Given the description of an element on the screen output the (x, y) to click on. 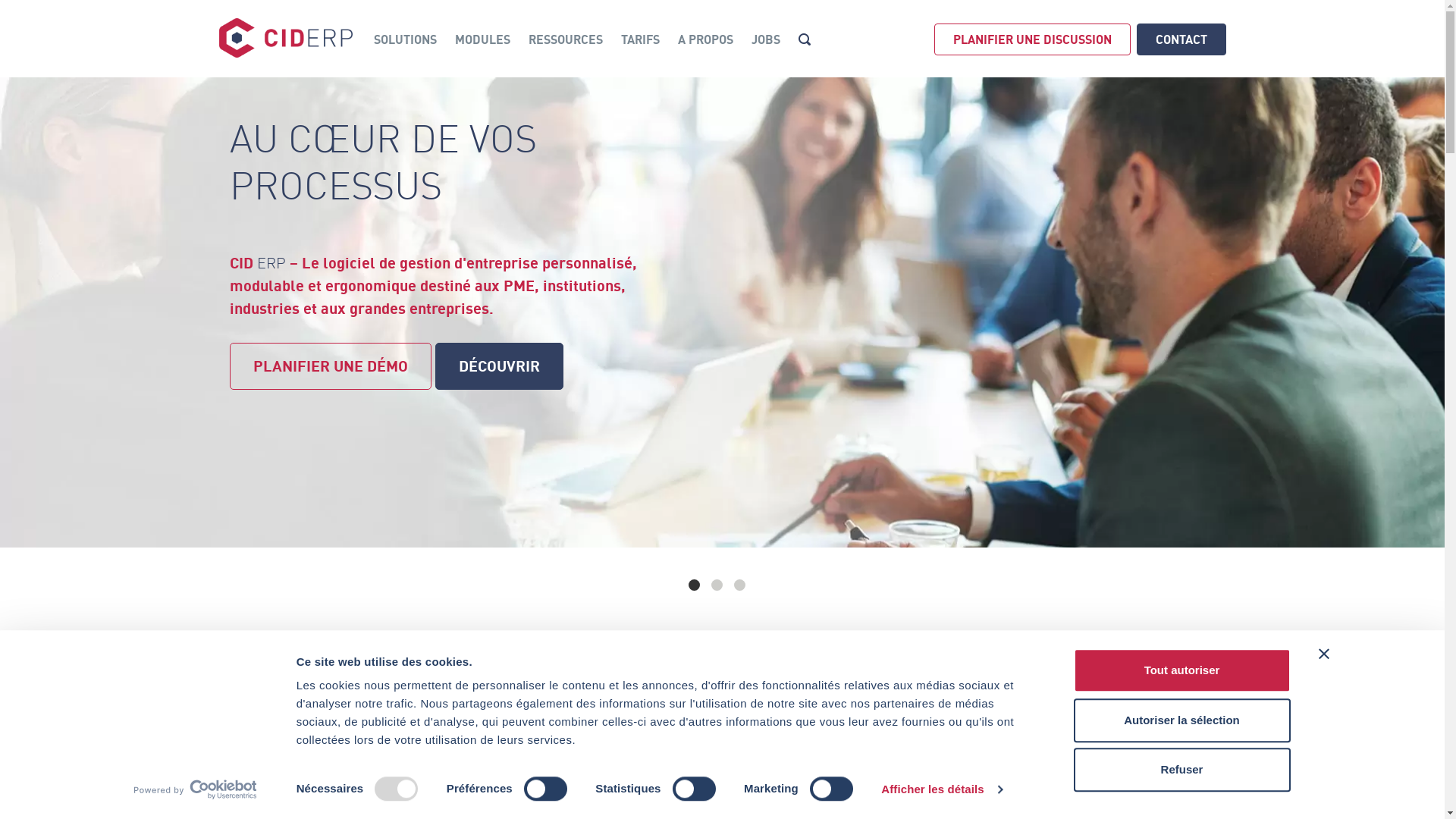
1 Element type: text (693, 584)
2 Element type: text (716, 584)
JOBS Element type: text (764, 39)
Tout autoriser Element type: text (1181, 670)
Refuser Element type: text (1181, 769)
PLANIFIER UNE DISCUSSION Element type: text (1032, 39)
SOLUTIONS Element type: text (404, 39)
A PROPOS Element type: text (705, 39)
MODULES Element type: text (482, 39)
RESSOURCES Element type: text (564, 39)
3 Element type: text (739, 584)
CONTACT Element type: text (1180, 39)
TARIFS Element type: text (639, 39)
